Given the description of an element on the screen output the (x, y) to click on. 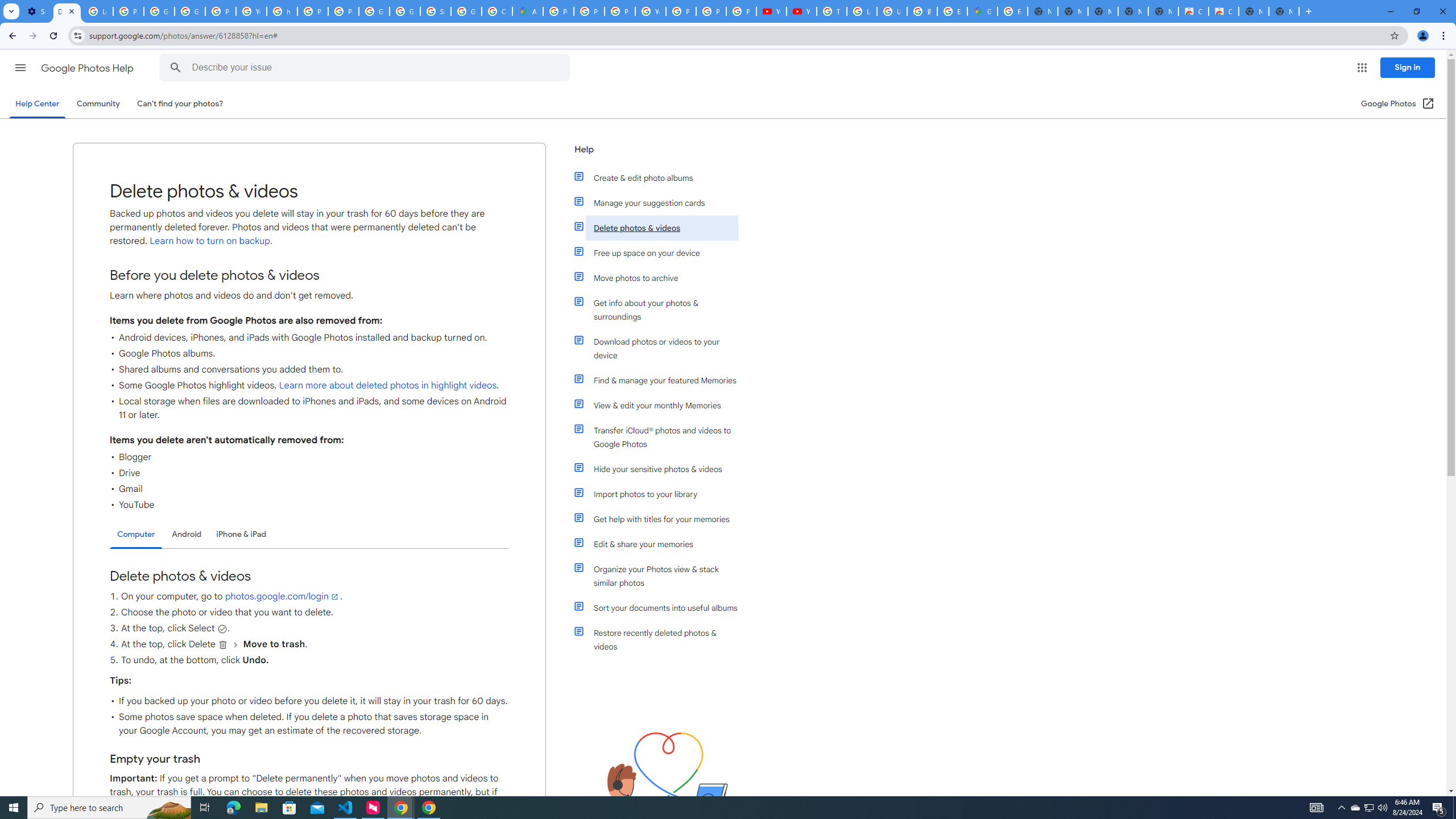
Can't find your photos? (180, 103)
Select (221, 628)
Import photos to your library (661, 493)
Manage your suggestion cards (661, 202)
Edit & share your memories (661, 543)
Create your Google Account (496, 11)
YouTube (771, 11)
View & edit your monthly Memories (661, 405)
Privacy Help Center - Policies Help (589, 11)
Free up space on your device (661, 252)
Delete photos & videos - Computer - Google Photos Help (66, 11)
